Given the description of an element on the screen output the (x, y) to click on. 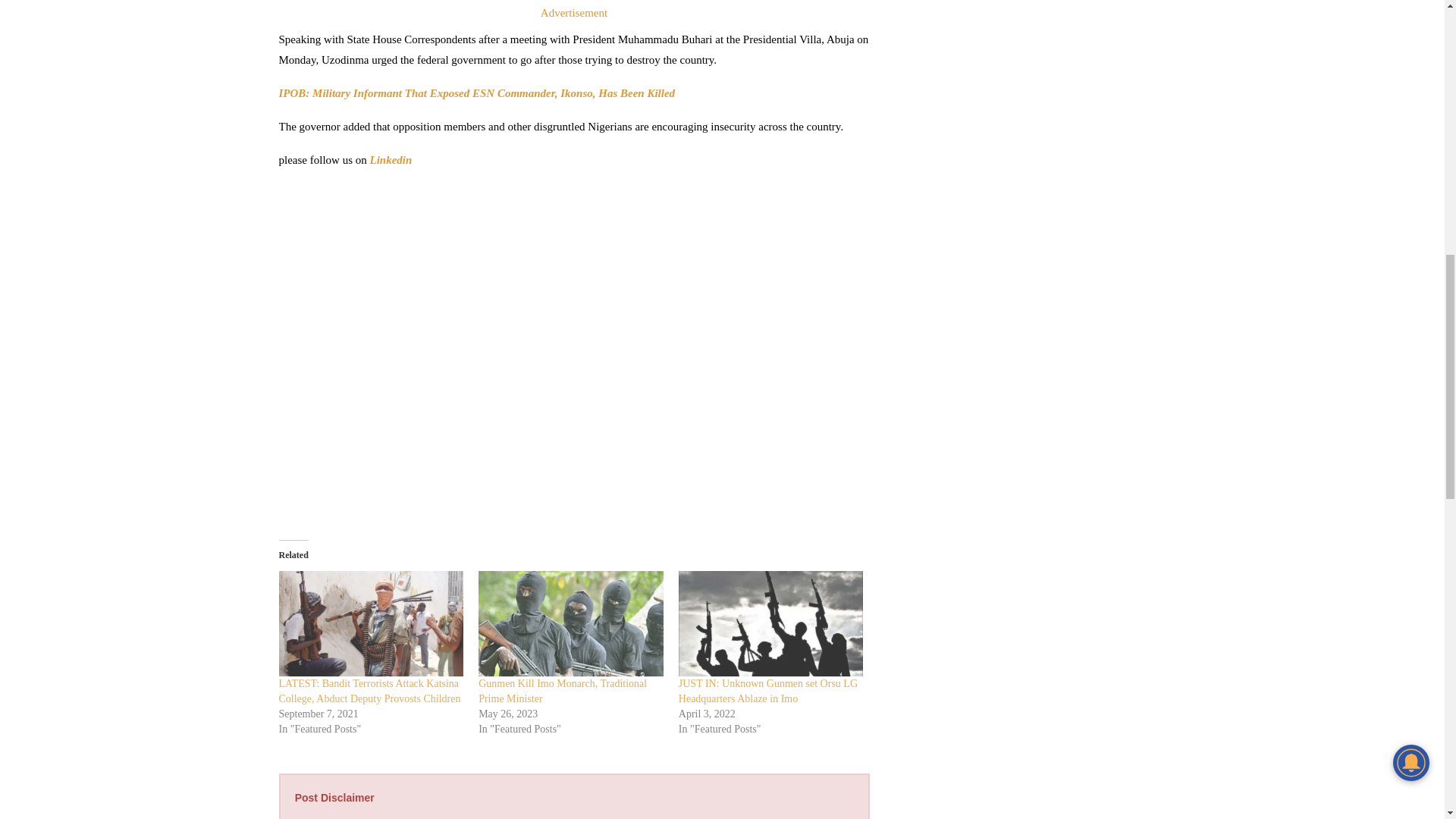
Gunmen Kill Imo Monarch, Traditional Prime Minister (571, 623)
Gunmen Kill Imo Monarch, Traditional Prime Minister (562, 691)
